Given the description of an element on the screen output the (x, y) to click on. 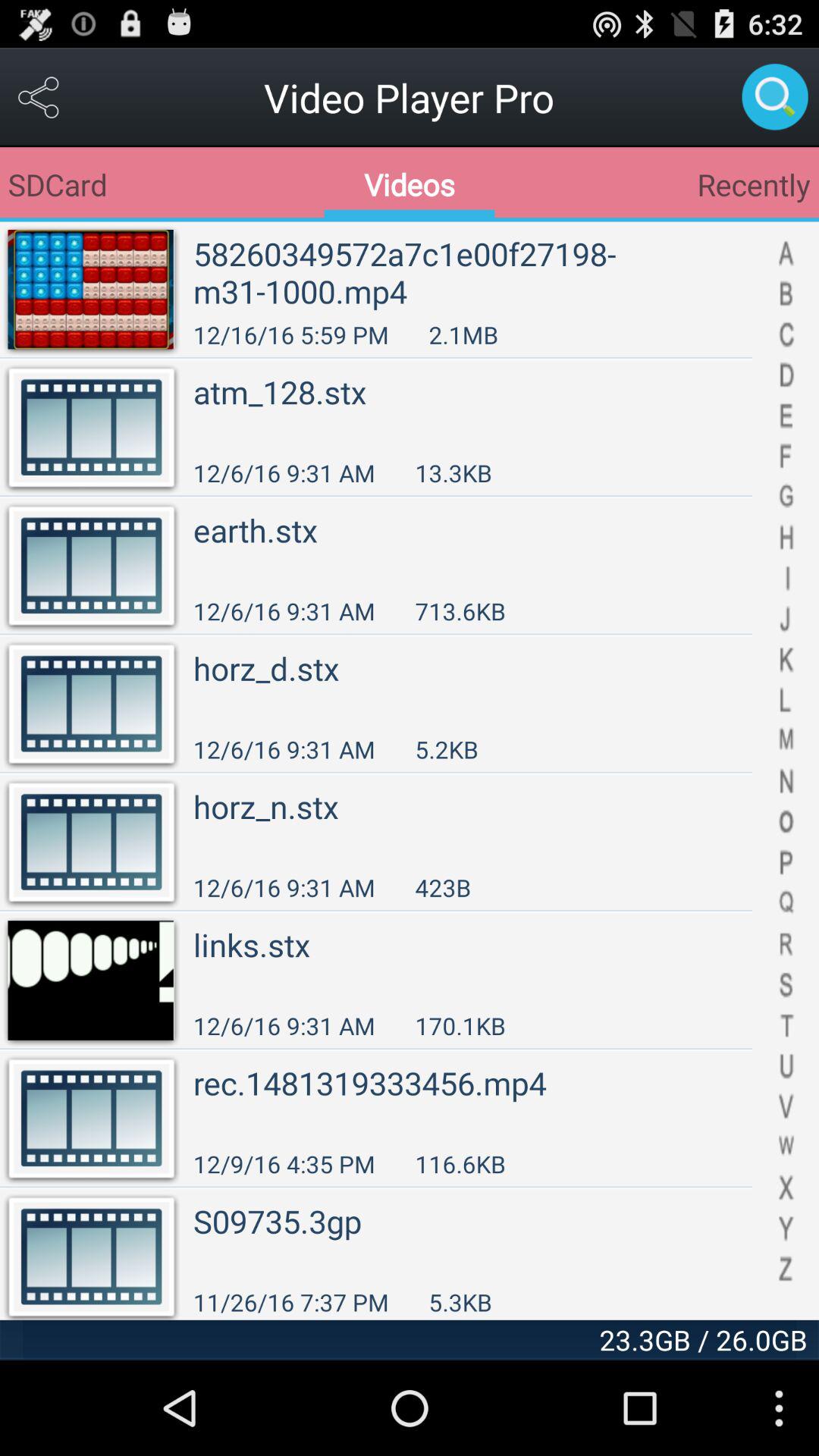
search list (785, 770)
